Given the description of an element on the screen output the (x, y) to click on. 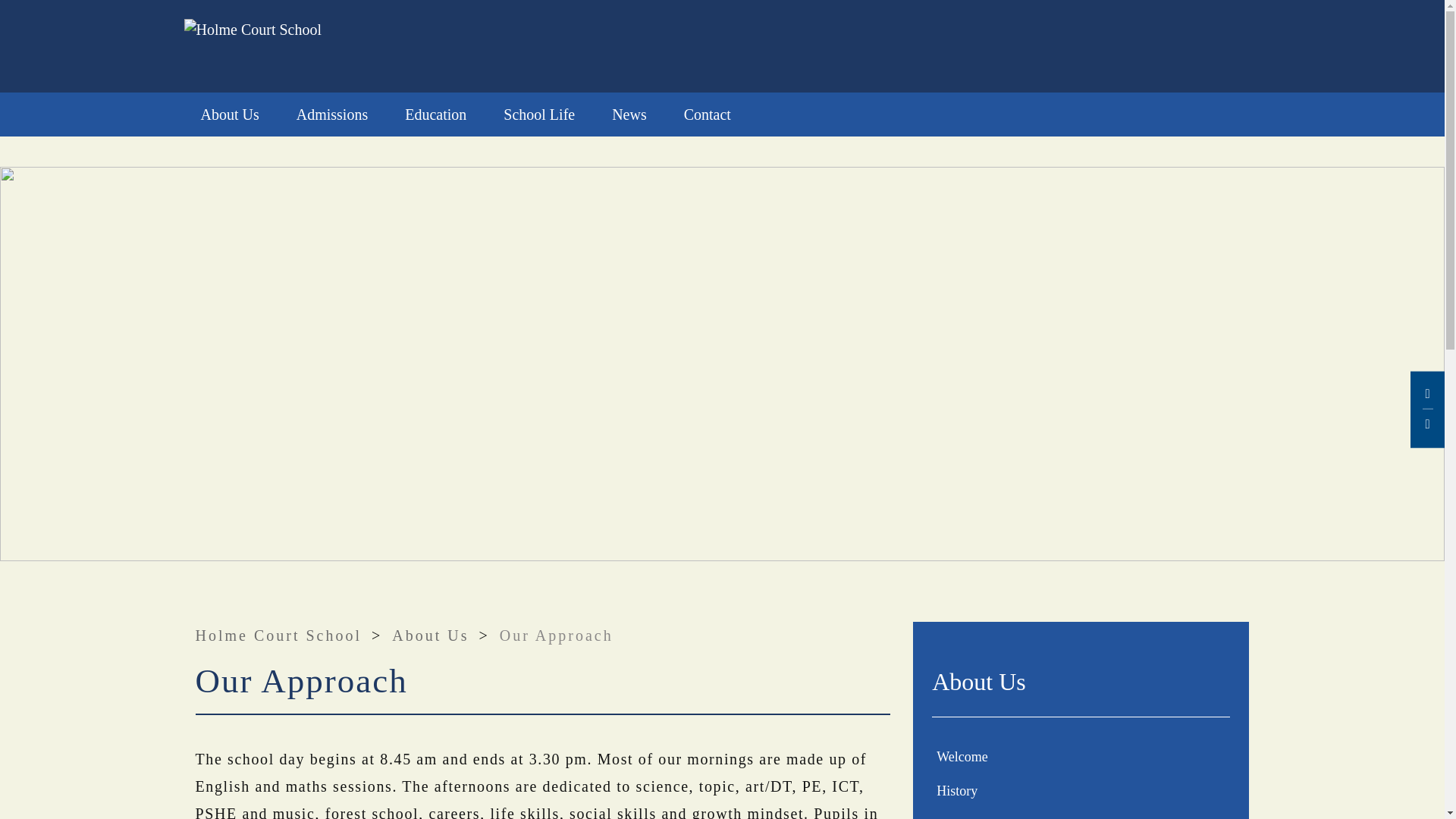
About Us (229, 114)
Education (435, 114)
Admissions (331, 114)
Go to Holme Court School. (278, 635)
School Life (538, 114)
News (629, 114)
Go to About Us. (429, 635)
